Given the description of an element on the screen output the (x, y) to click on. 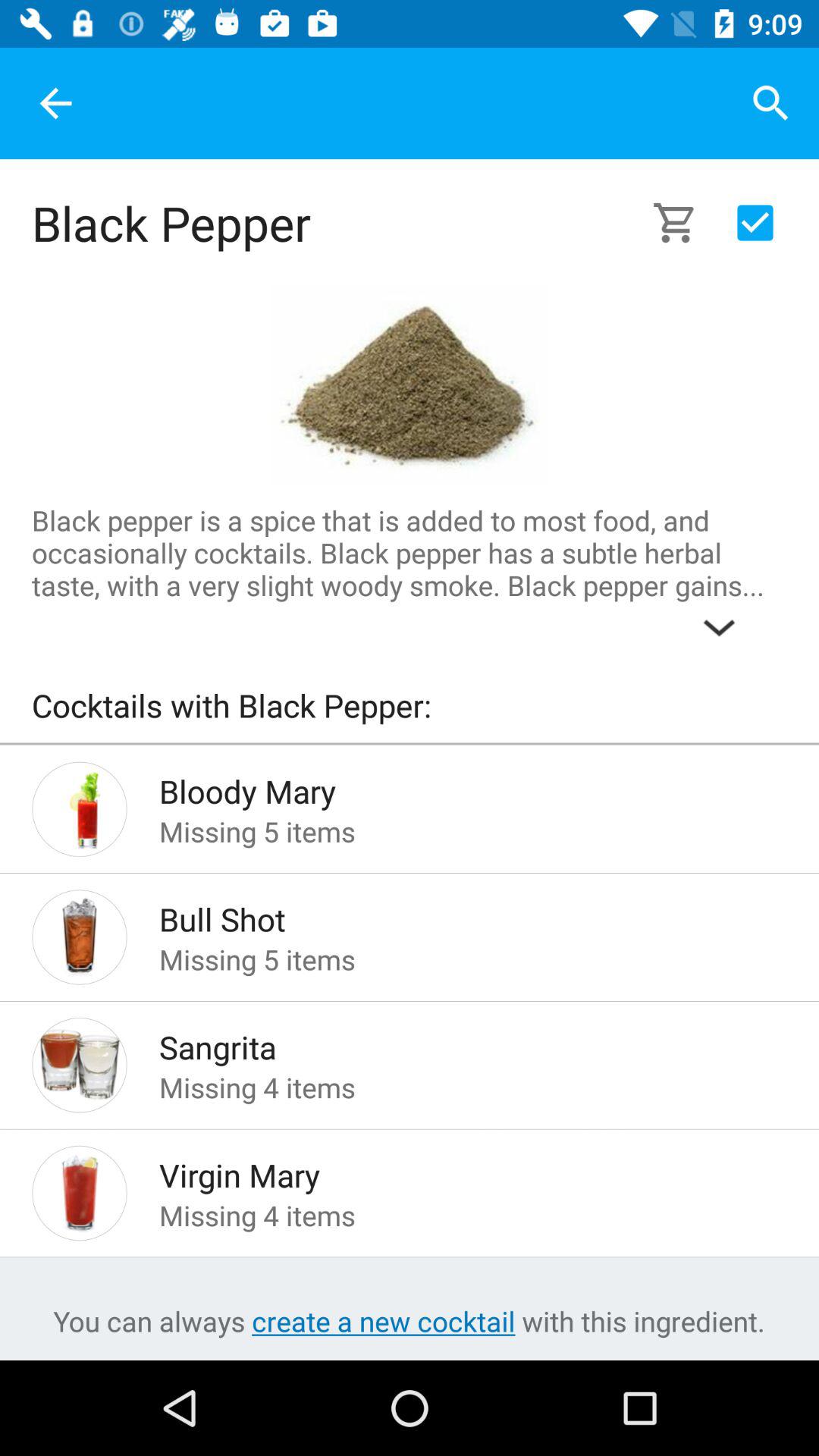
click on the cart symbol (683, 222)
